Given the description of an element on the screen output the (x, y) to click on. 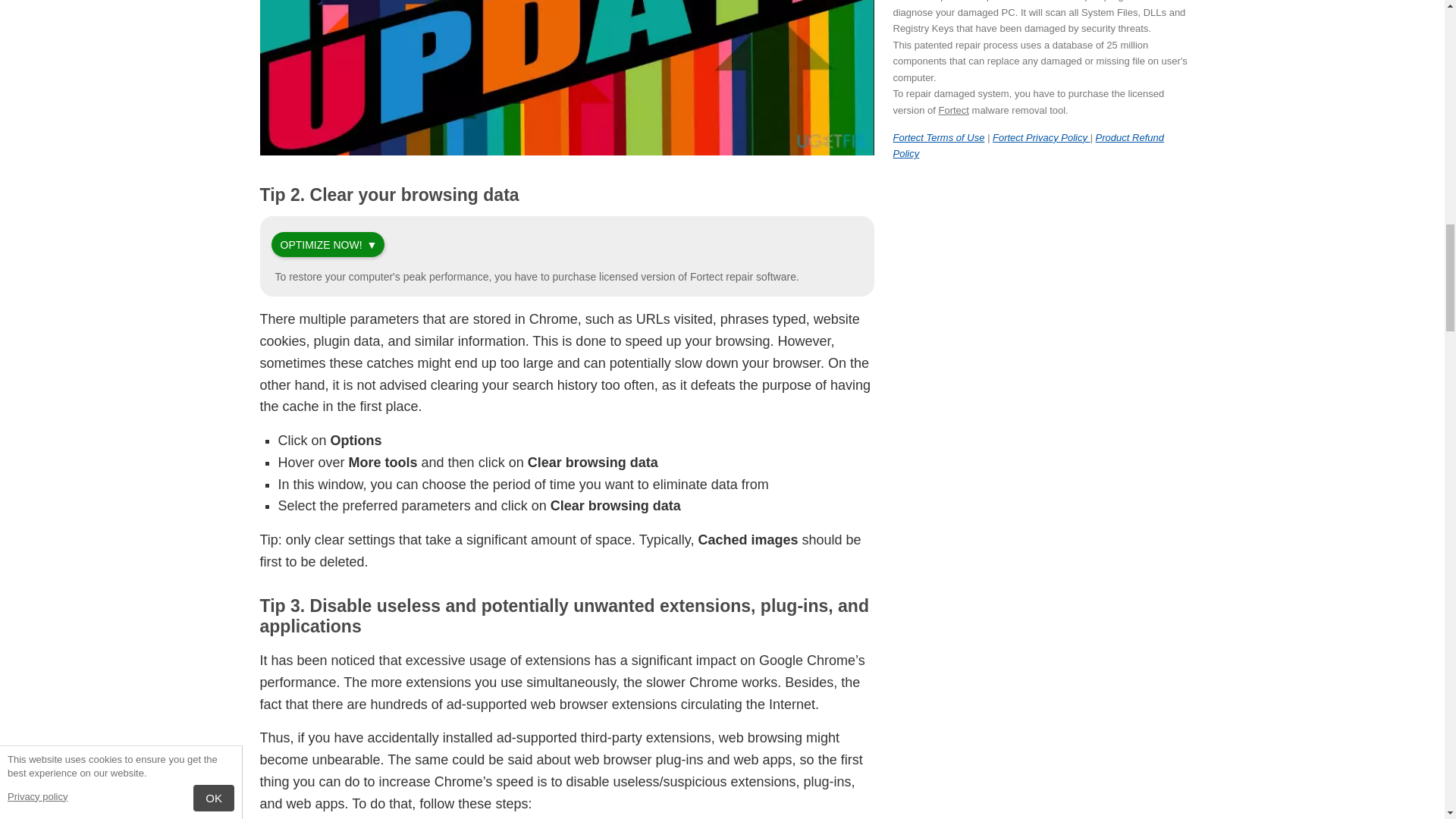
OPTIMIZE NOW! (321, 244)
Google Chrome update (566, 77)
